Given the description of an element on the screen output the (x, y) to click on. 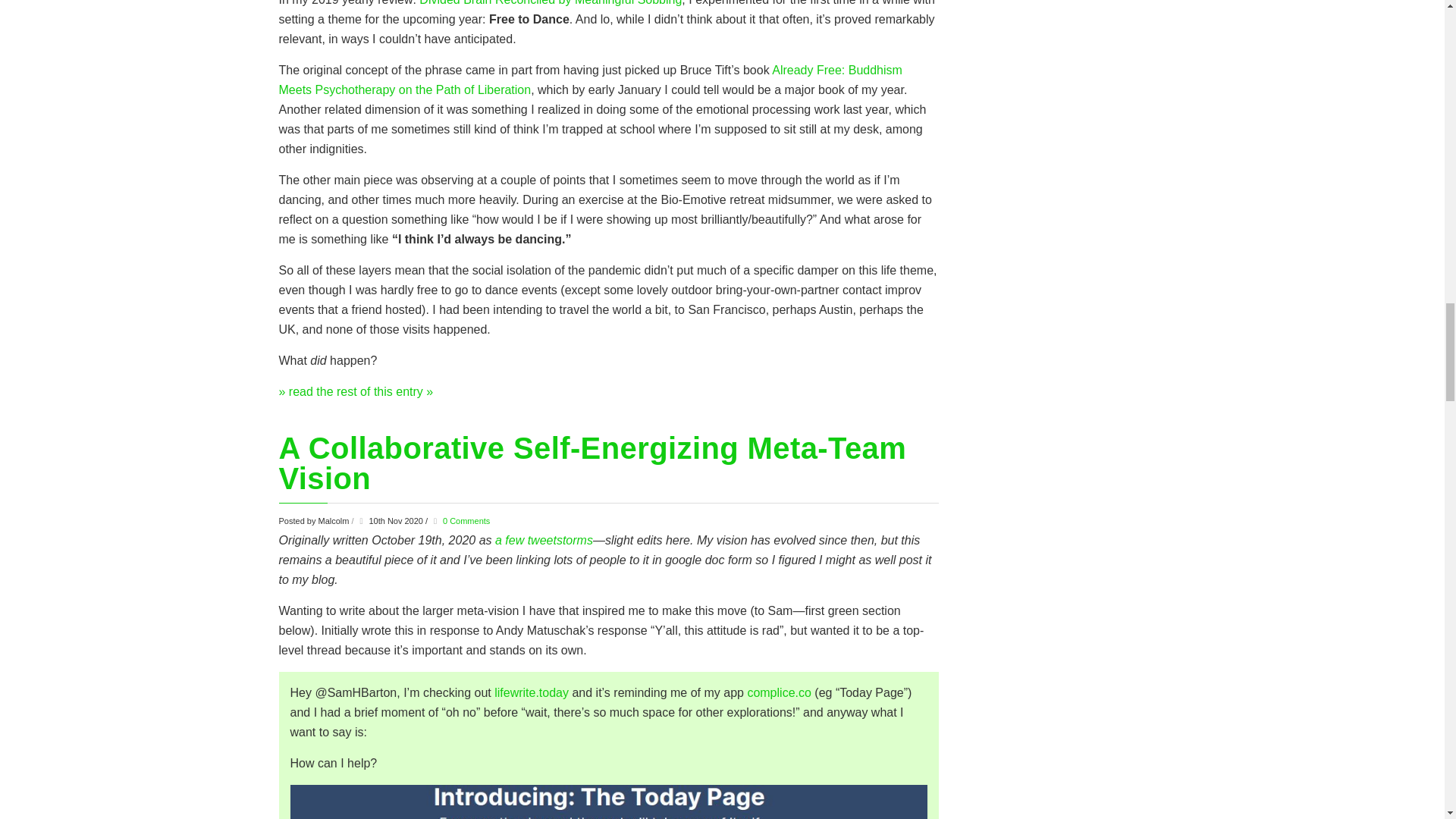
Divided Brain Reconciled by Meaningful Sobbing (550, 2)
lifewrite.today (532, 692)
0 Comments (465, 520)
complice.co (778, 692)
A Collaborative Self-Energizing Meta-Team Vision (593, 463)
0 Comments (465, 520)
a few tweetstorms (543, 540)
